Given the description of an element on the screen output the (x, y) to click on. 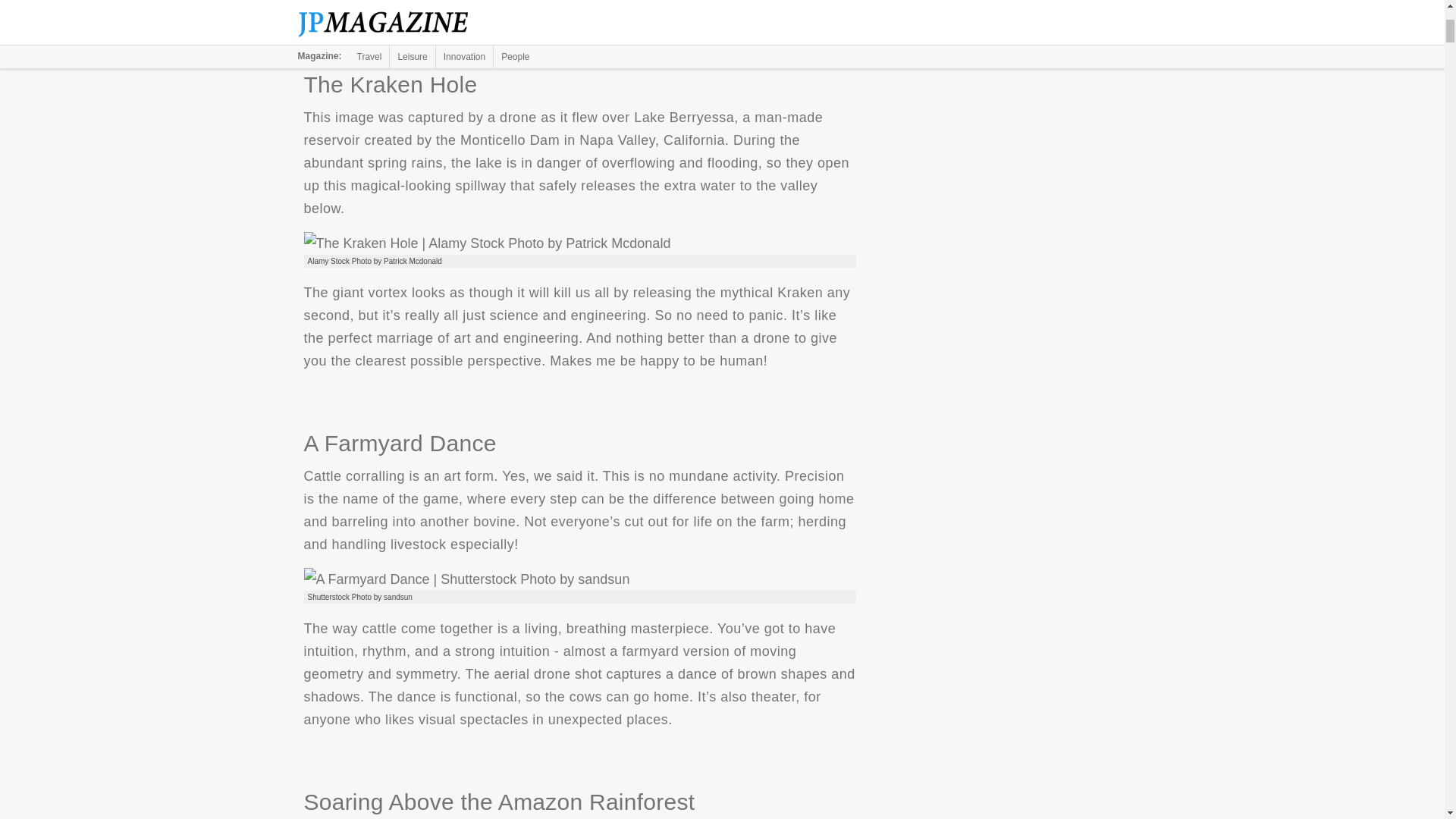
The Kraken Hole (485, 242)
A Farmyard Dance (465, 579)
